Given the description of an element on the screen output the (x, y) to click on. 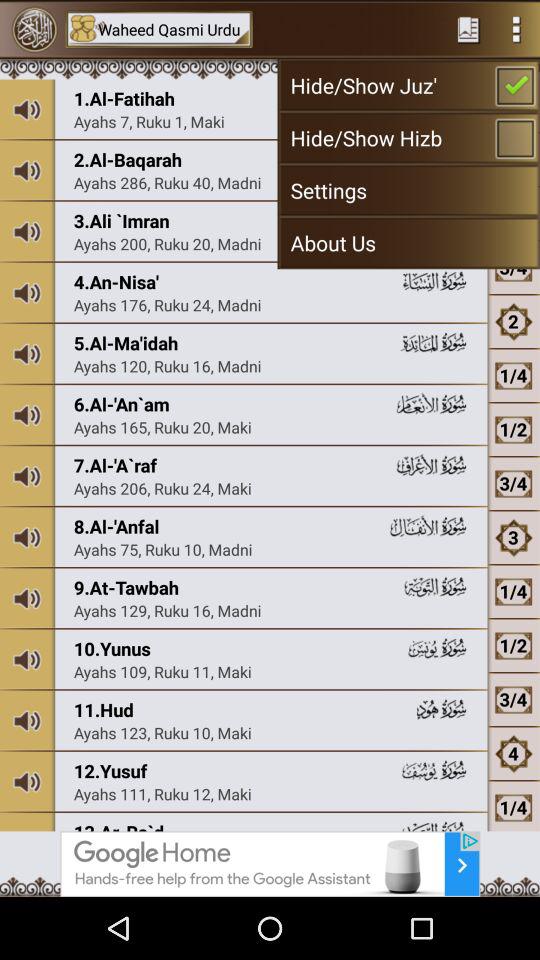
saved (468, 29)
